Given the description of an element on the screen output the (x, y) to click on. 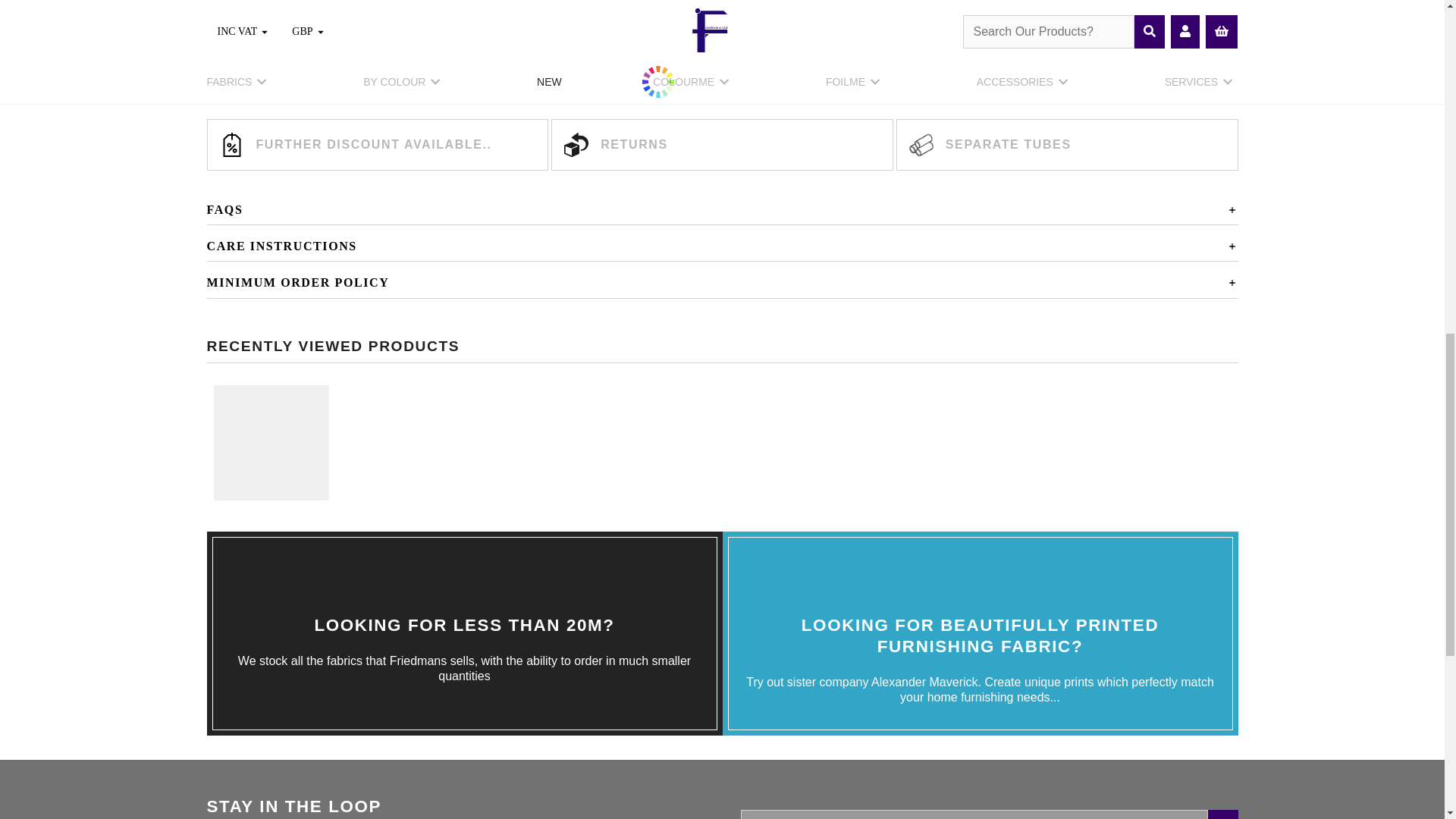
Expand (1231, 209)
Expand (1231, 282)
Expand (1231, 246)
LETTER V - RHINESTONE ALPHABET CHARM (270, 442)
